Given the description of an element on the screen output the (x, y) to click on. 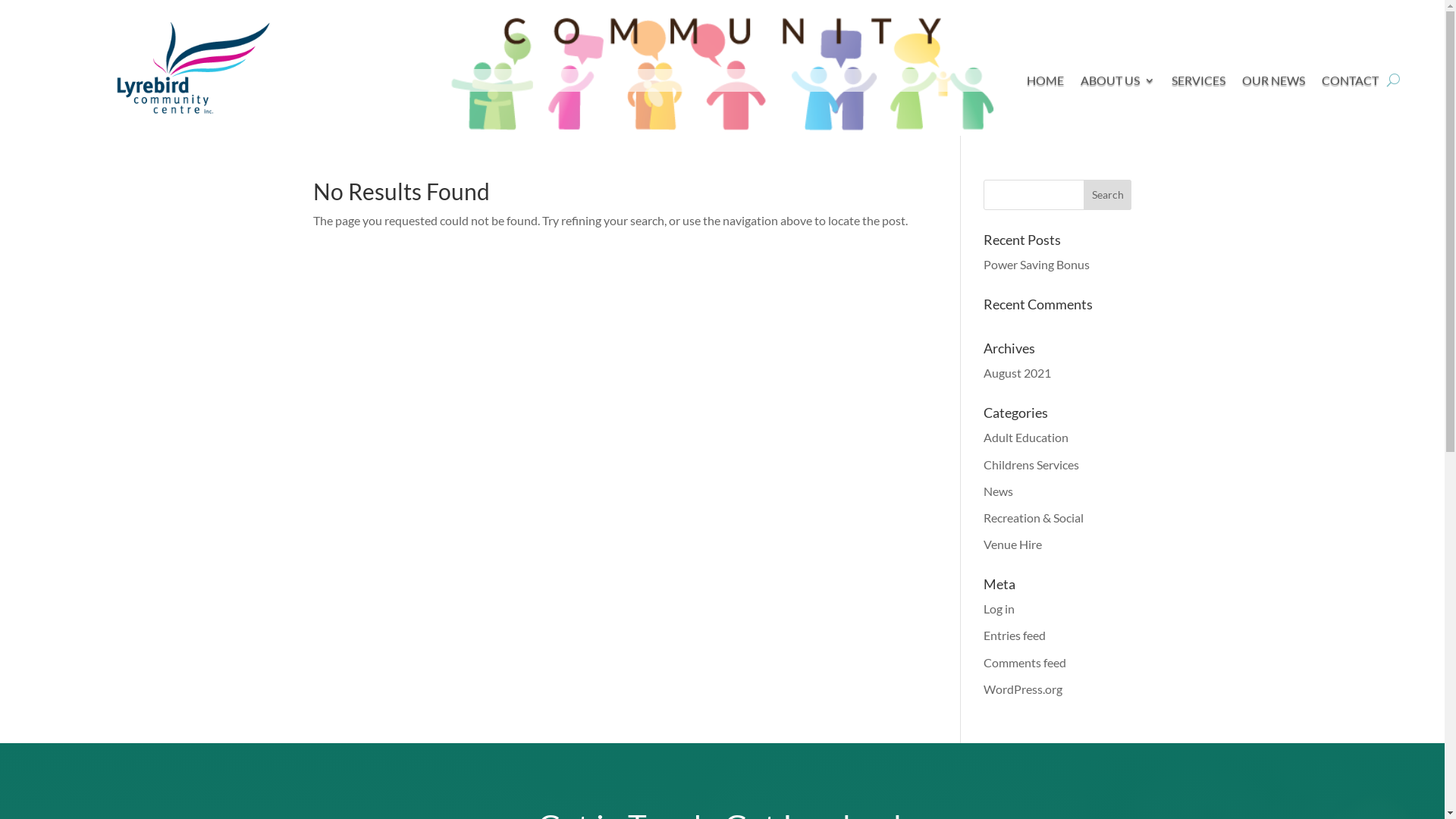
August 2021 Element type: text (1017, 372)
CONTACT Element type: text (1349, 83)
ABOUT US Element type: text (1117, 83)
Childrens Services Element type: text (1031, 464)
Recreation & Social Element type: text (1033, 517)
News Element type: text (998, 490)
SERVICES Element type: text (1198, 83)
OUR NEWS Element type: text (1273, 83)
WordPress.org Element type: text (1022, 688)
Log in Element type: text (998, 608)
Lyrebird-Community-Centre Element type: hover (191, 67)
Adult Education Element type: text (1025, 436)
Venue Hire Element type: text (1012, 543)
HOME Element type: text (1044, 83)
Search Element type: text (1107, 194)
Comments feed Element type: text (1024, 662)
Power Saving Bonus Element type: text (1036, 264)
Entries feed Element type: text (1014, 634)
